Given the description of an element on the screen output the (x, y) to click on. 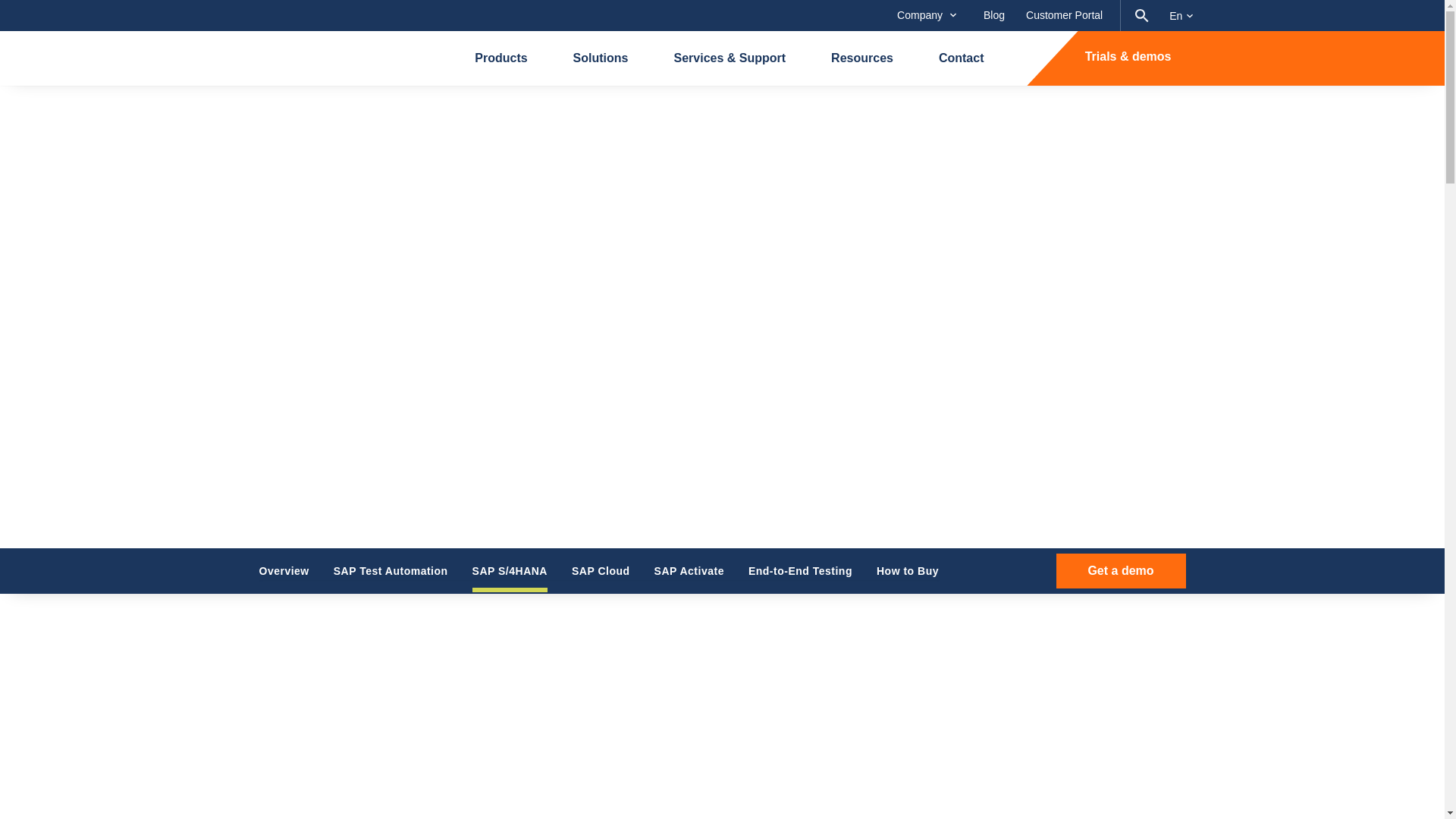
Blog (994, 15)
Customer Portal (1064, 15)
Company (926, 14)
Demo SAP Solution (1120, 570)
